Given the description of an element on the screen output the (x, y) to click on. 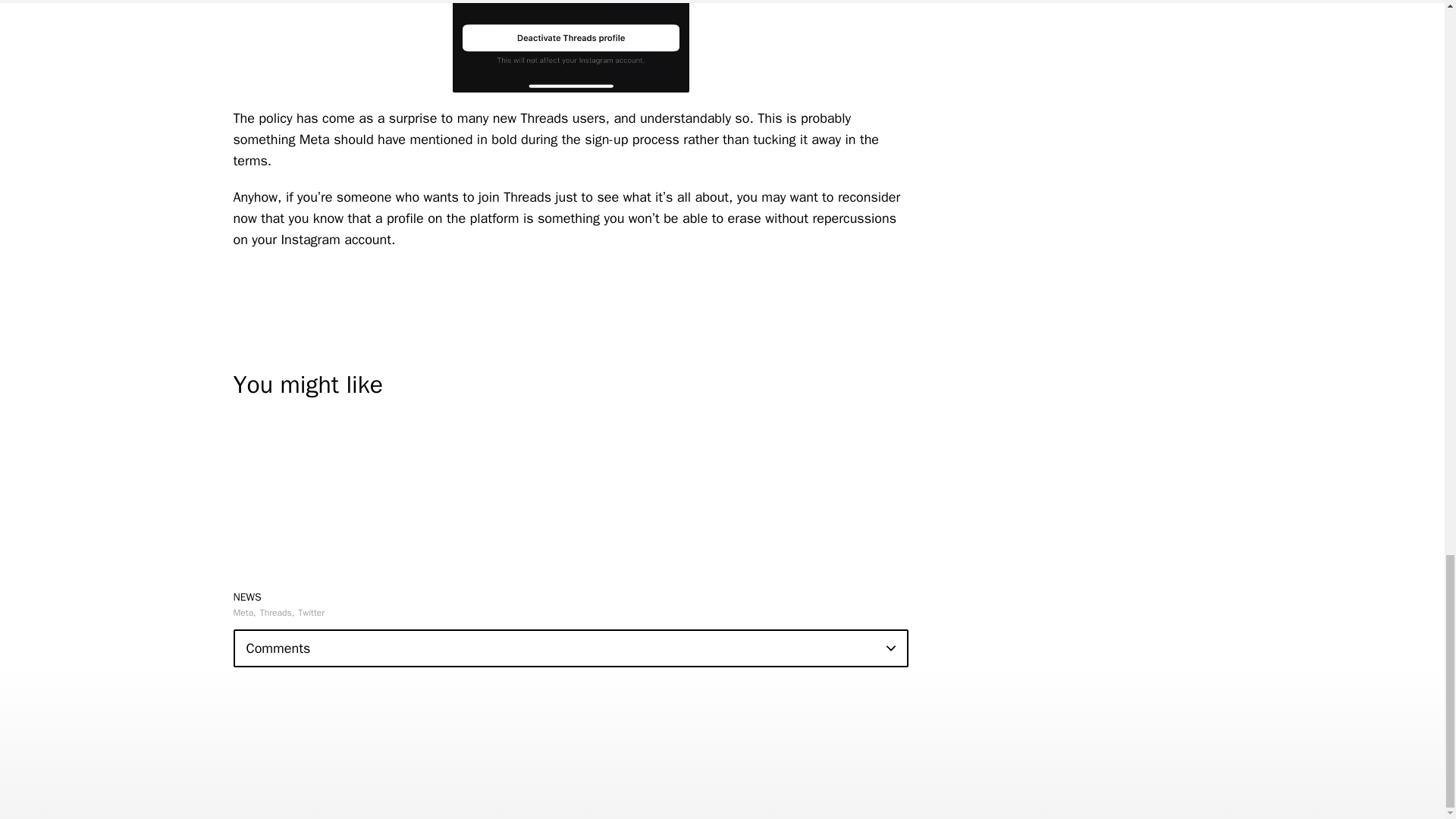
Meta (244, 612)
NEWS (247, 596)
Threads (277, 612)
Twitter (311, 612)
Comments (570, 648)
deactivate Threads account (569, 46)
